Given the description of an element on the screen output the (x, y) to click on. 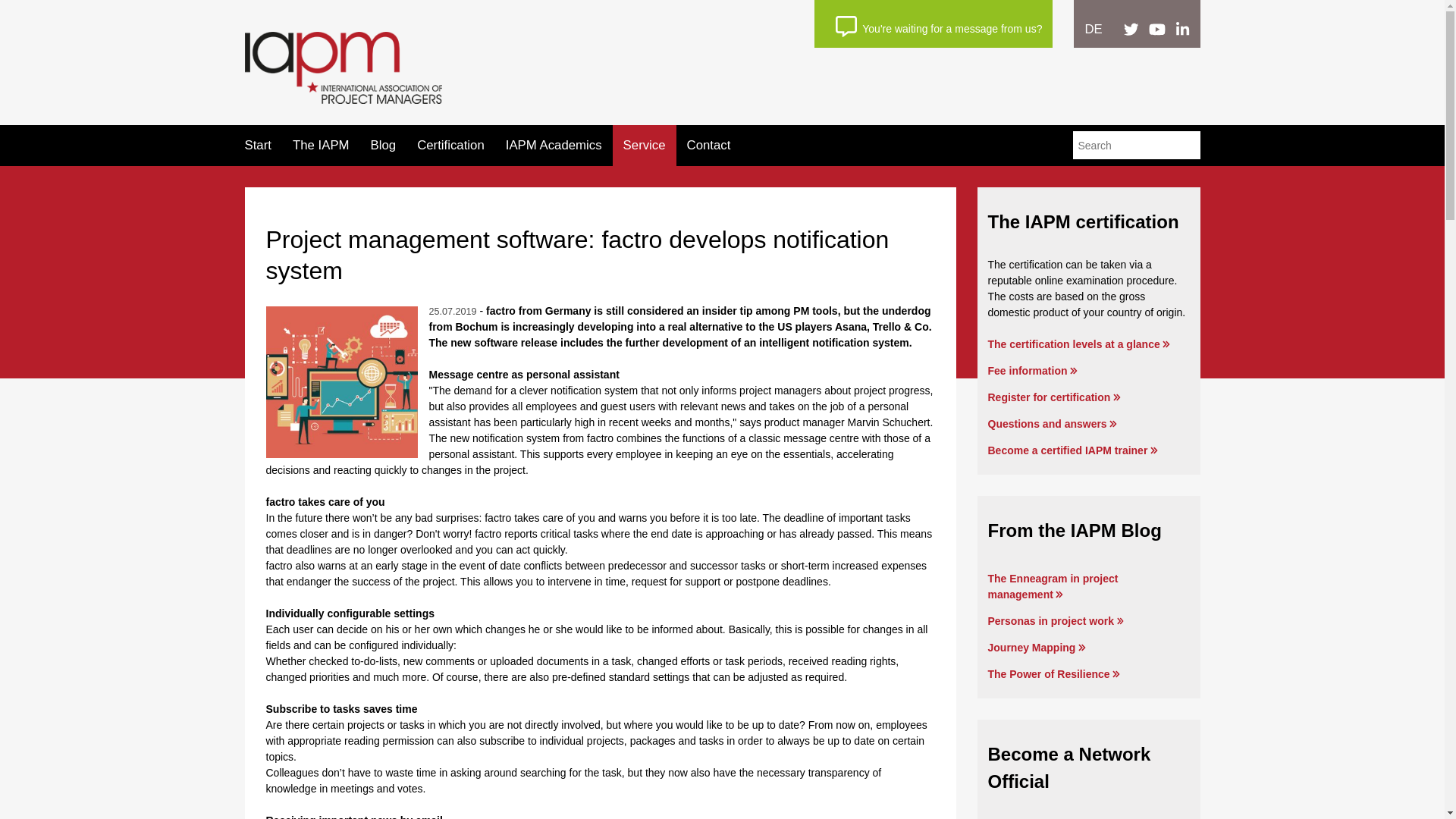
IAPM Academics (553, 145)
Certification (450, 145)
Blog (383, 145)
You're waiting for a message from us? (938, 25)
DE (1093, 29)
Start (257, 145)
The IAPM (320, 145)
